Given the description of an element on the screen output the (x, y) to click on. 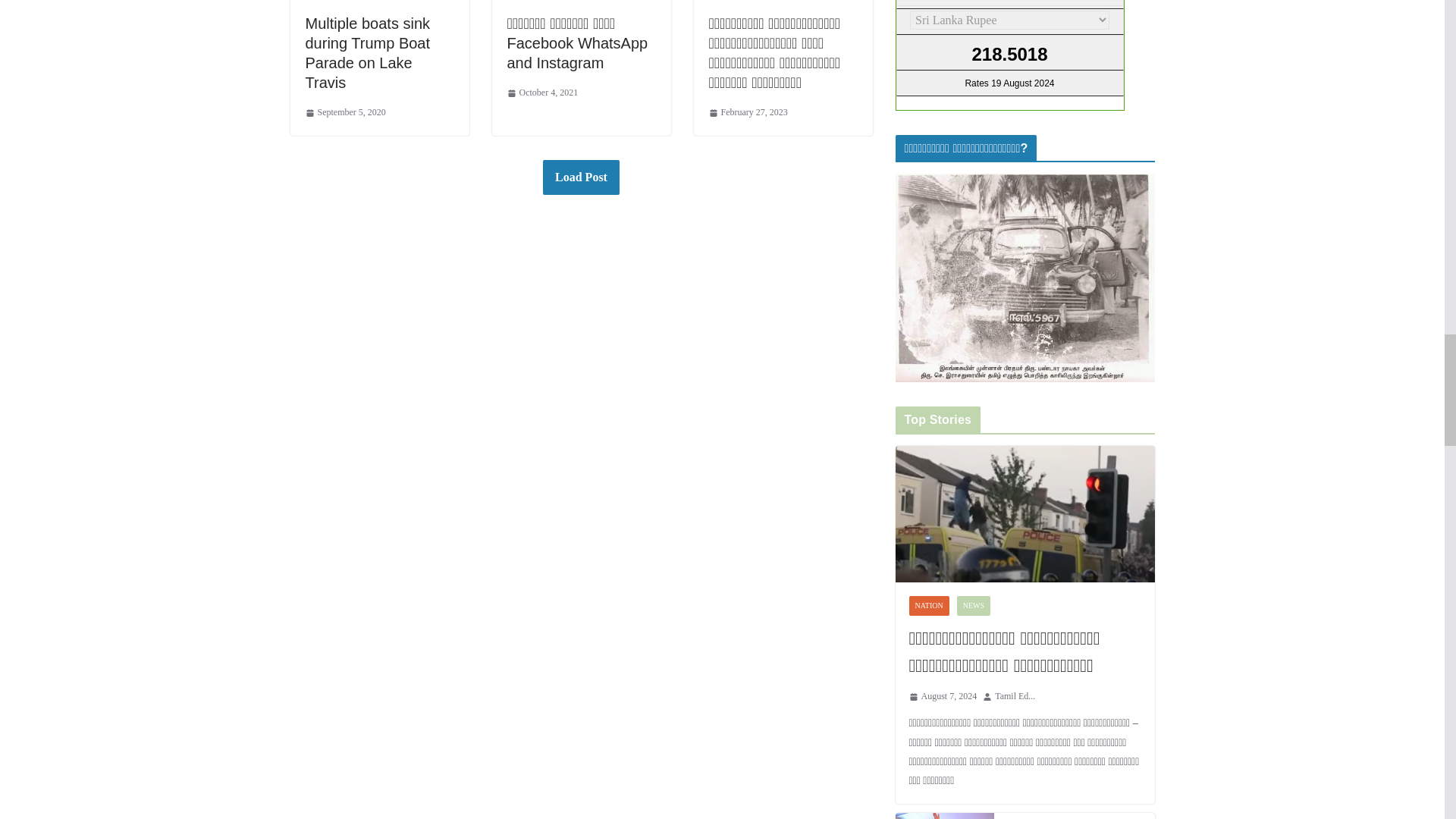
16:55 (344, 112)
Multiple boats sink during Trump Boat Parade on Lake Travis (366, 52)
September 5, 2020 (344, 112)
Multiple boats sink during Trump Boat Parade on Lake Travis (366, 52)
October 4, 2021 (542, 93)
14:02 (747, 112)
12:50 (542, 93)
